Given the description of an element on the screen output the (x, y) to click on. 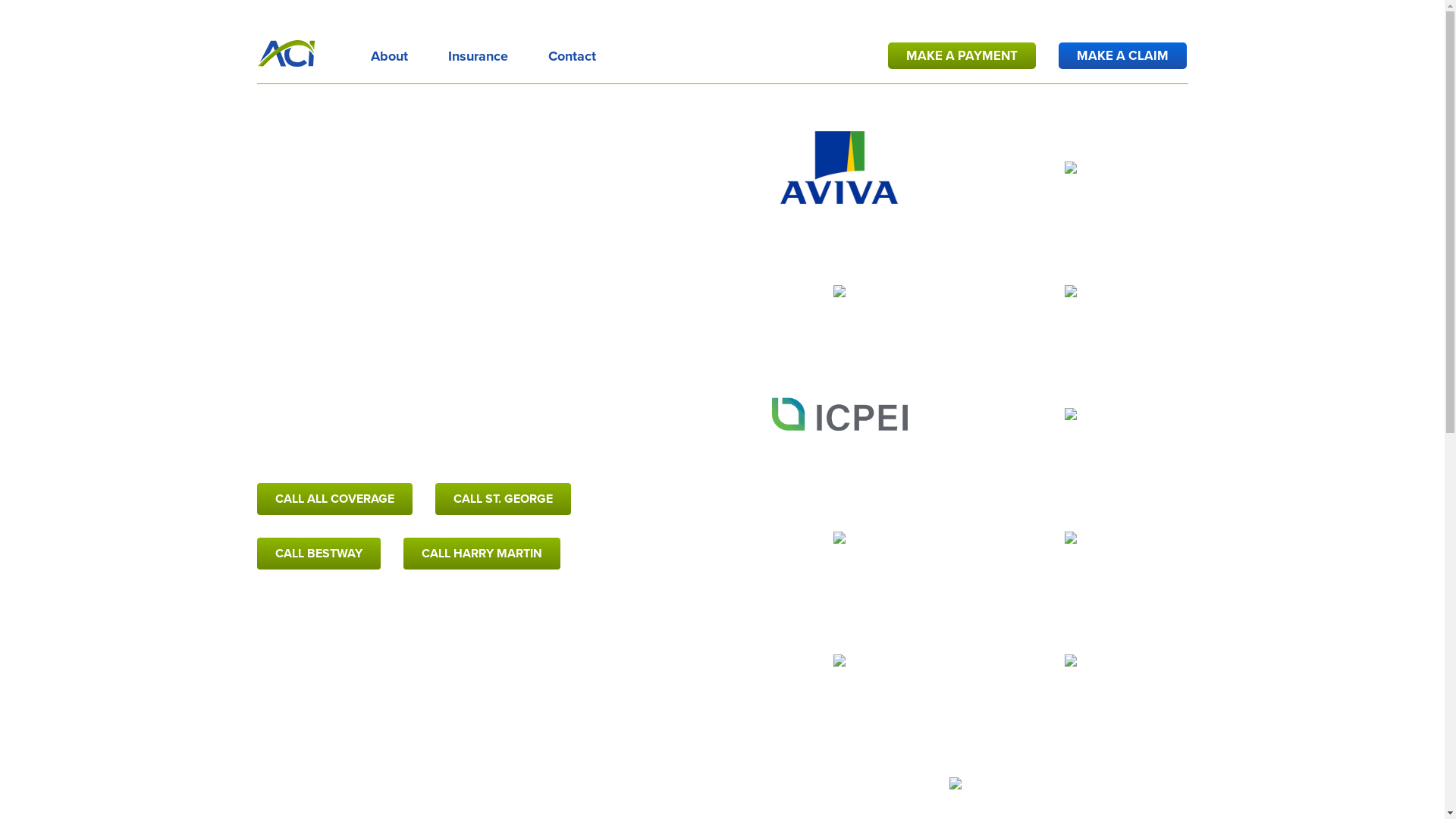
SUBMIT BY PHONE Element type: text (839, 308)
SUBMIT BY PHONE Element type: text (1070, 555)
SUBMIT BY PHONE Element type: text (839, 678)
Contact Element type: text (571, 53)
MAKE A CLAIM Element type: text (1122, 55)
CALL ST. GEORGE Element type: text (503, 498)
SUBMIT ONLINE Element type: text (839, 396)
SUBMIT ONLINE Element type: text (839, 642)
SUBMIT ONLINE Element type: text (839, 272)
SUBMIT ONLINE Element type: text (1070, 519)
SUBMIT ONLINE Element type: text (1070, 149)
SUBMIT ONLINE Element type: text (954, 765)
SUBMIT BY PHONE Element type: text (1070, 185)
CALL ALL COVERAGE Element type: text (334, 498)
SUBMIT BY PHONE Element type: text (1070, 678)
SUBMIT ONLINE Element type: text (839, 149)
Insurance Element type: text (477, 53)
MAKE A PAYMENT Element type: text (961, 55)
SUBMIT ONLINE Element type: text (1070, 272)
SUBMIT BY PHONE Element type: text (954, 801)
SUBMIT BY PHONE Element type: text (1070, 431)
SUBMIT BY PHONE Element type: text (1070, 308)
SUBMIT BY PHONE Element type: text (839, 185)
SUBMIT ONLINE Element type: text (839, 519)
SUBMIT BY PHONE Element type: text (839, 555)
About Element type: text (388, 53)
CALL HARRY MARTIN Element type: text (481, 553)
SUBMIT ONLINE Element type: text (1070, 642)
CALL BESTWAY Element type: text (318, 553)
SUBMIT ONLINE Element type: text (1070, 396)
SUBMIT BY PHONE Element type: text (839, 431)
NAV-logo Element type: hover (285, 53)
